Given the description of an element on the screen output the (x, y) to click on. 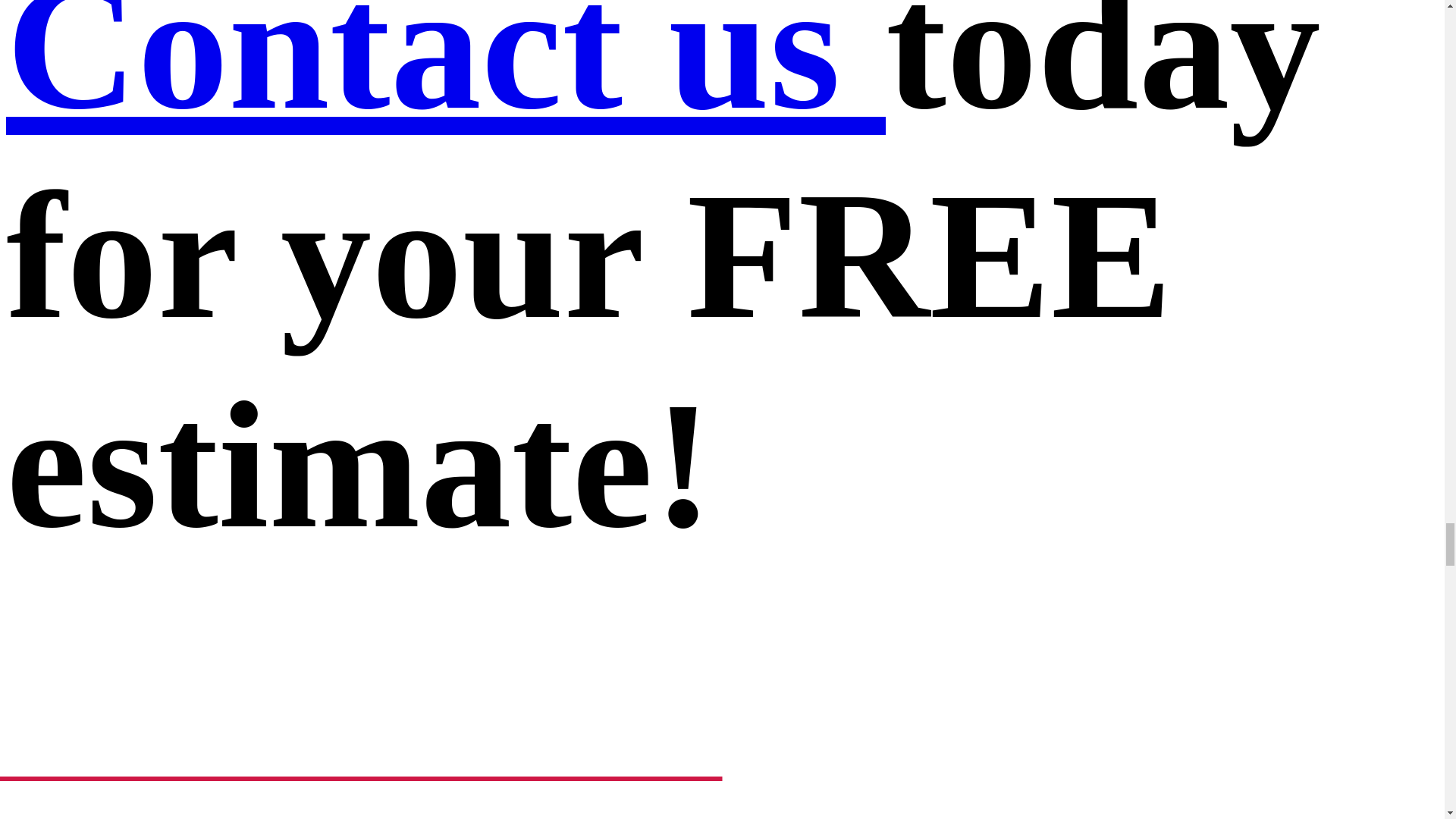
Contact us  (445, 73)
